Given the description of an element on the screen output the (x, y) to click on. 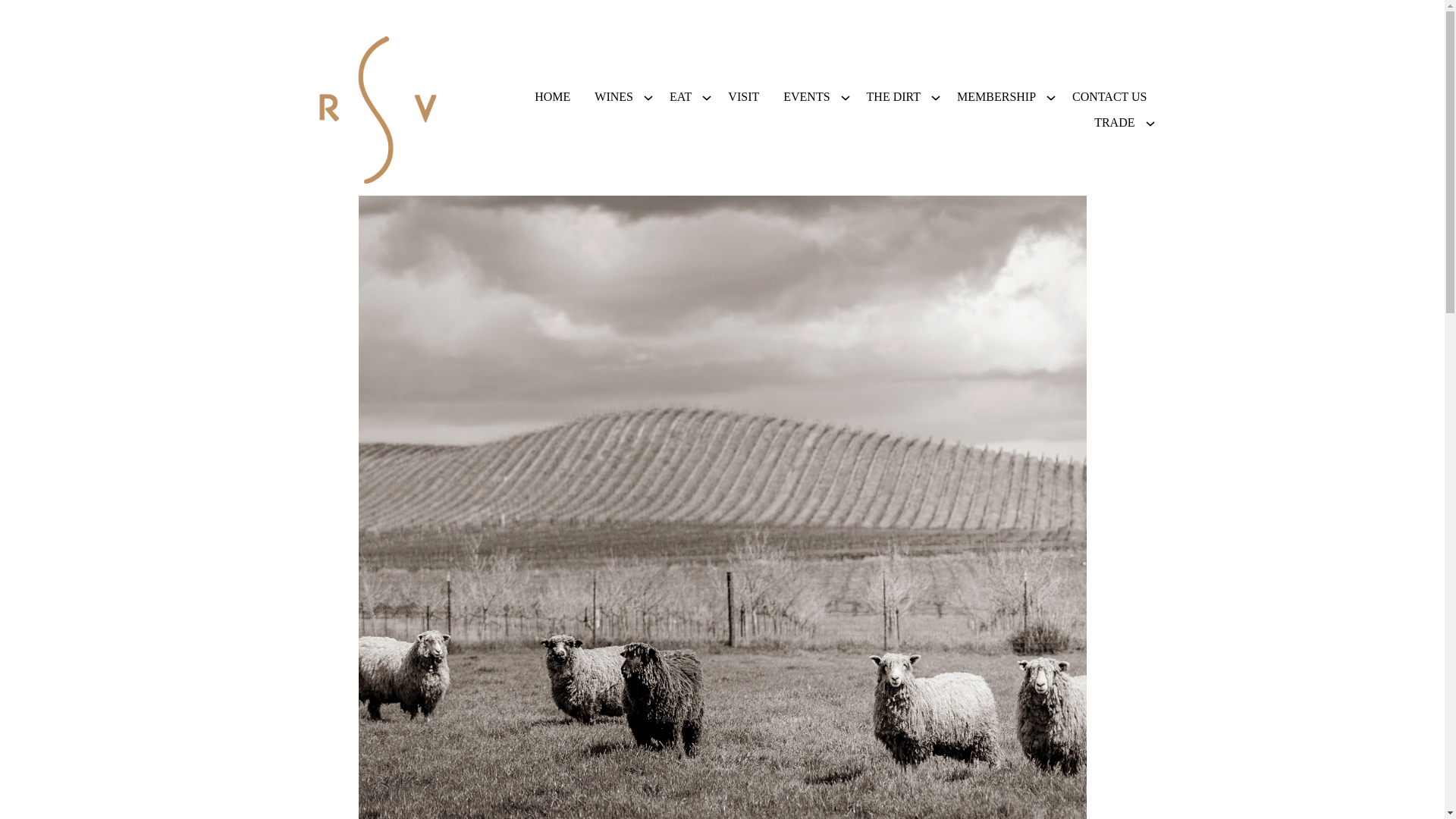
WINES (613, 96)
THE DIRT (893, 96)
EVENTS (806, 96)
EAT (680, 96)
VISIT (743, 96)
MEMBERSHIP (996, 96)
HOME (552, 96)
